Given the description of an element on the screen output the (x, y) to click on. 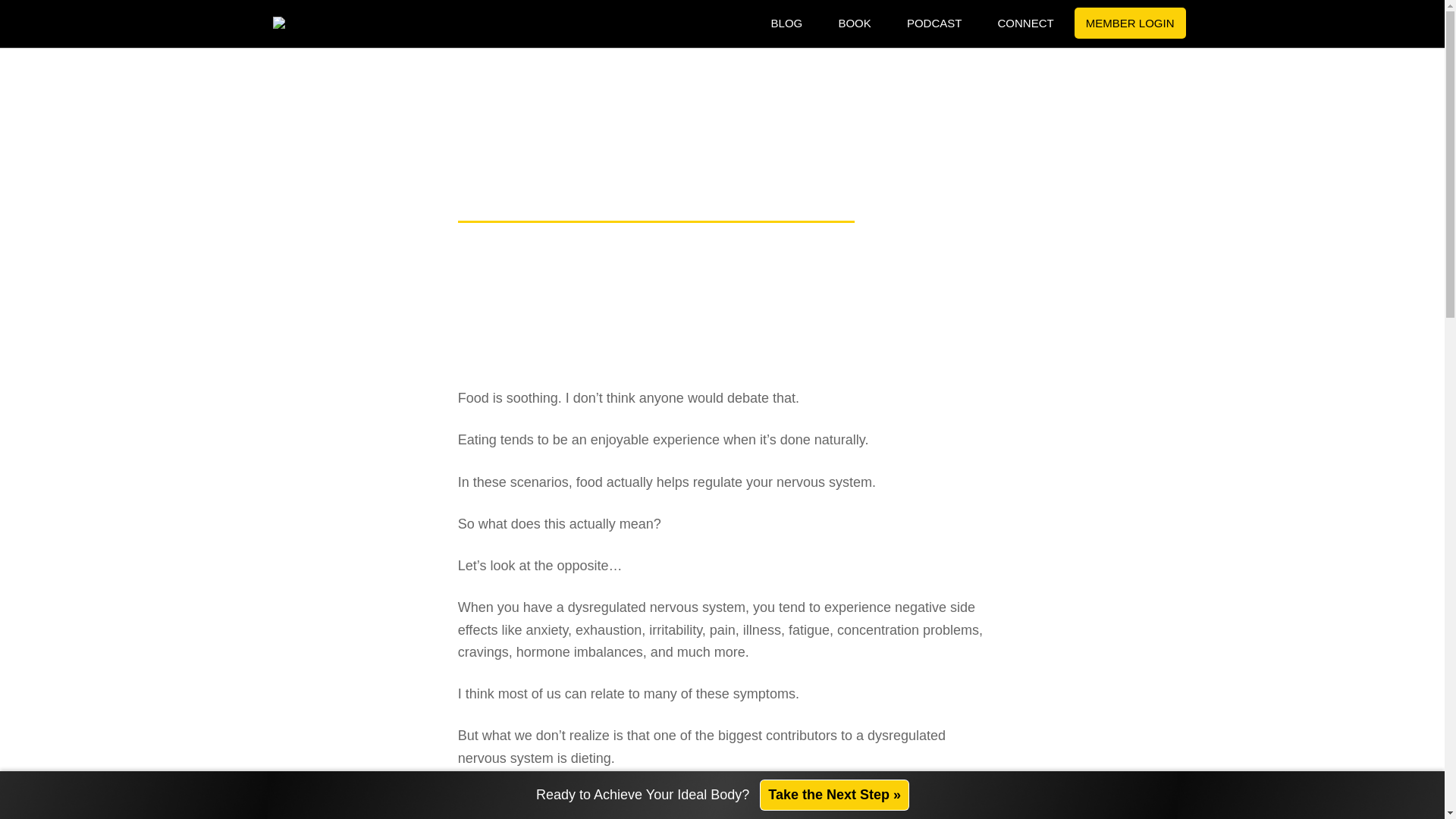
CONNECT (1025, 23)
PODCAST (933, 23)
BLOG (786, 23)
BOOK (853, 23)
MEMBER LOGIN (1130, 22)
